Given the description of an element on the screen output the (x, y) to click on. 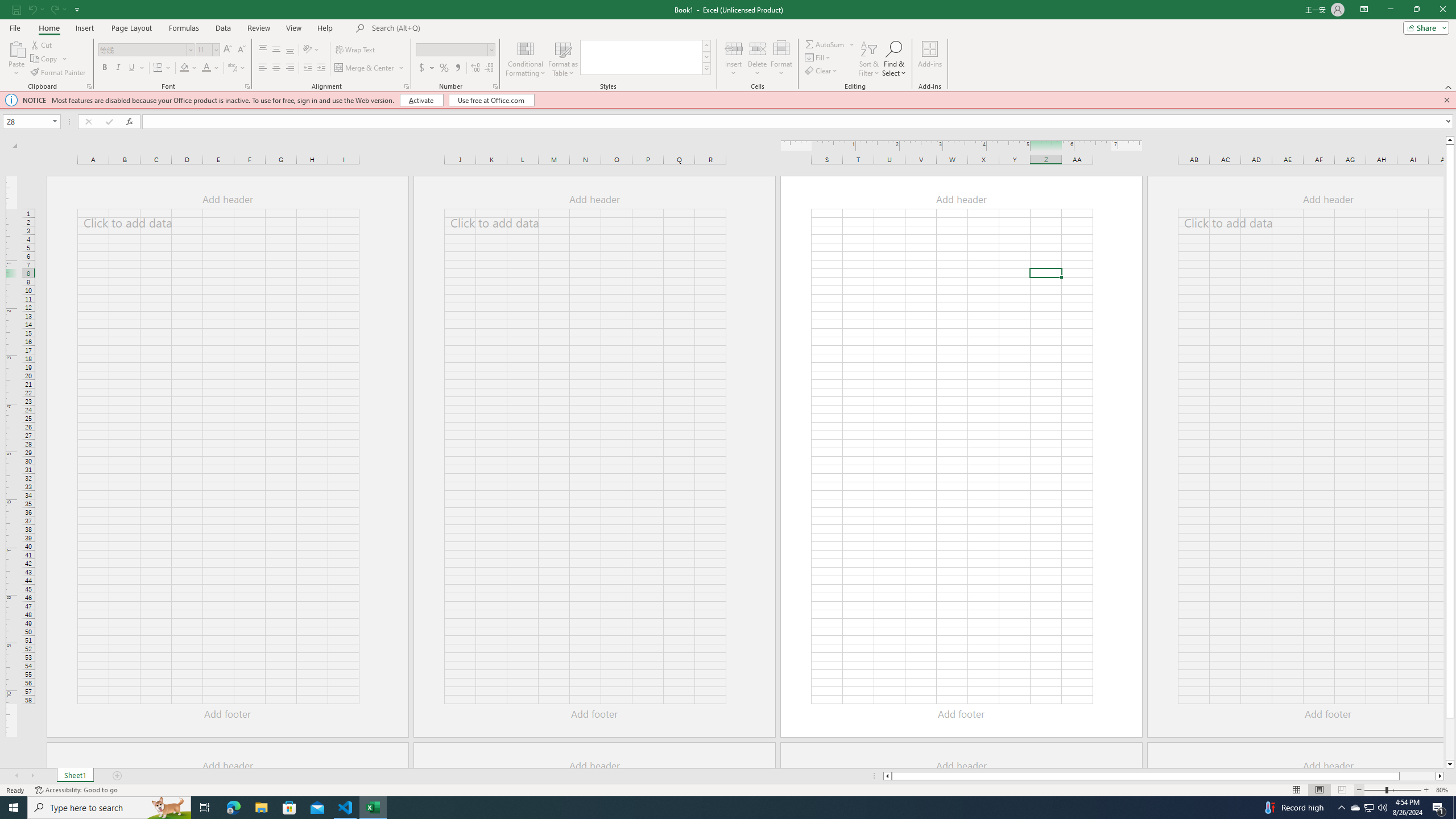
Borders (162, 67)
Increase Indent (320, 67)
Conditional Formatting (525, 58)
Cell Styles (705, 68)
Decrease Font Size (240, 49)
